Given the description of an element on the screen output the (x, y) to click on. 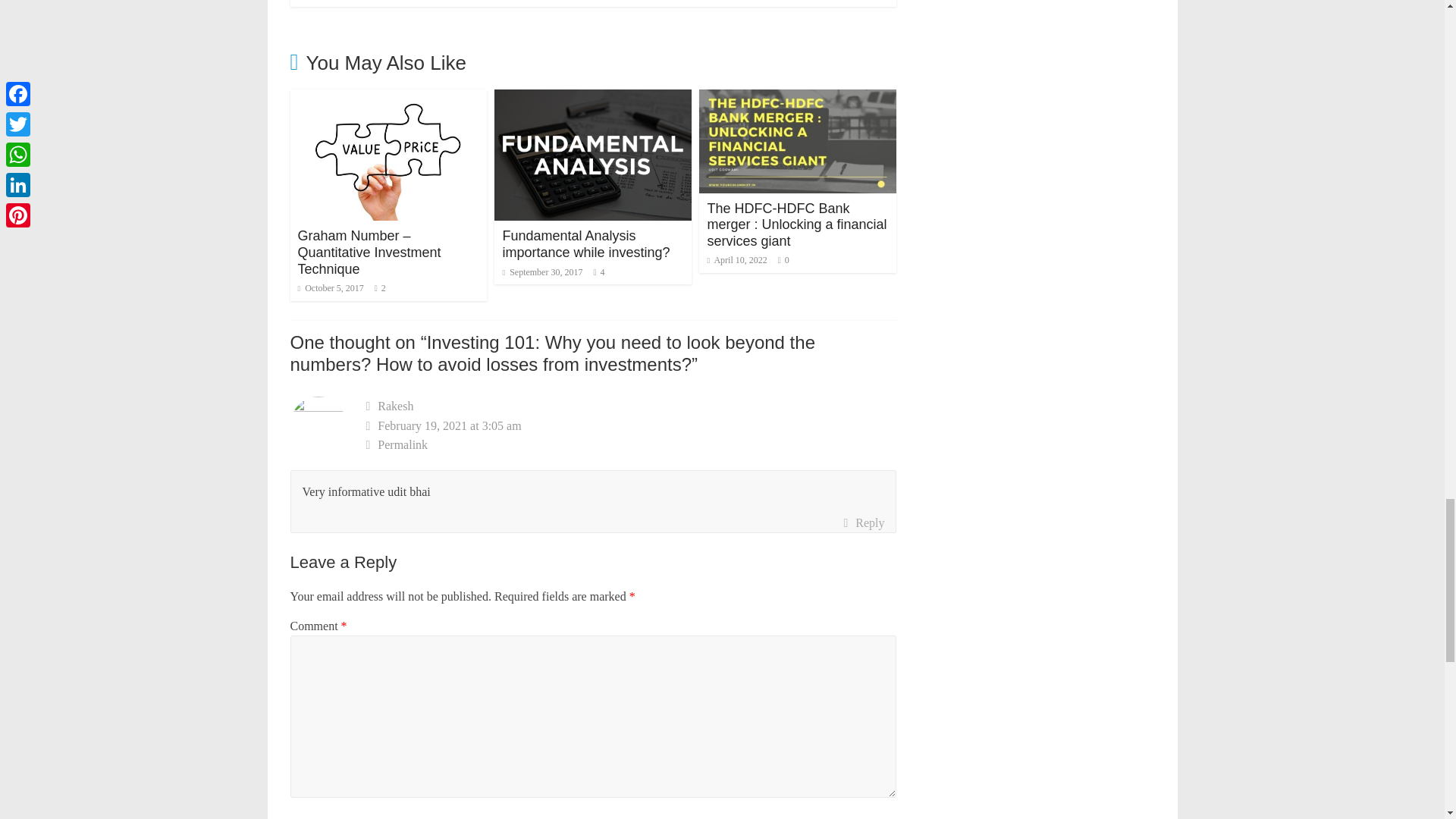
October 5, 2017 (329, 287)
Fundamental Analysis importance while investing? (593, 98)
Fundamental Analysis importance while investing? (585, 244)
September 30, 2017 (542, 271)
9:57 pm (329, 287)
Fundamental Analysis importance while investing? (585, 244)
3:59 pm (542, 271)
